Given the description of an element on the screen output the (x, y) to click on. 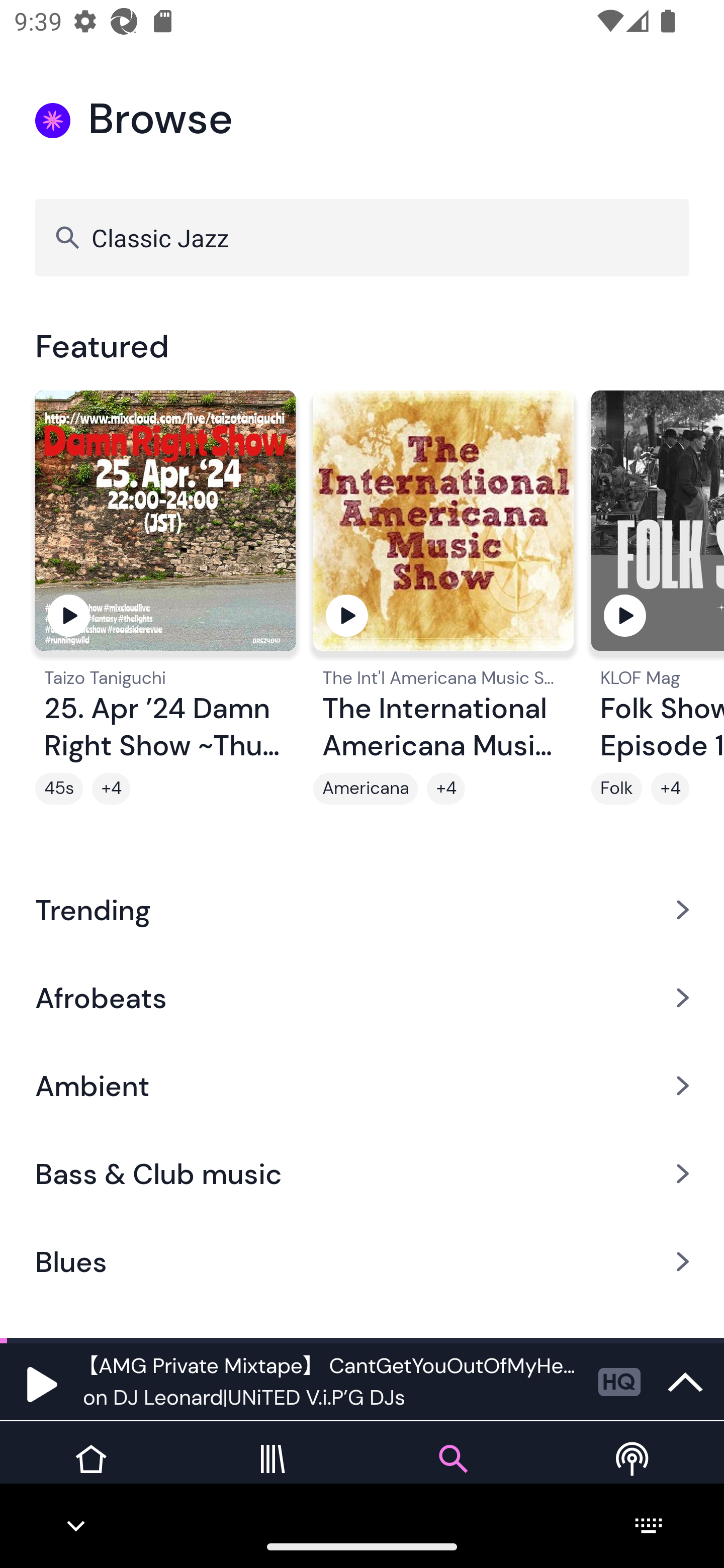
Classic Jazz (361, 237)
45s (59, 788)
Americana (365, 788)
Folk (616, 788)
Trending (361, 909)
Afrobeats (361, 997)
Ambient (361, 1085)
Bass & Club music (361, 1174)
Blues (361, 1262)
Home tab (90, 1473)
Library tab (271, 1473)
Browse tab (452, 1473)
Live tab (633, 1473)
